Given the description of an element on the screen output the (x, y) to click on. 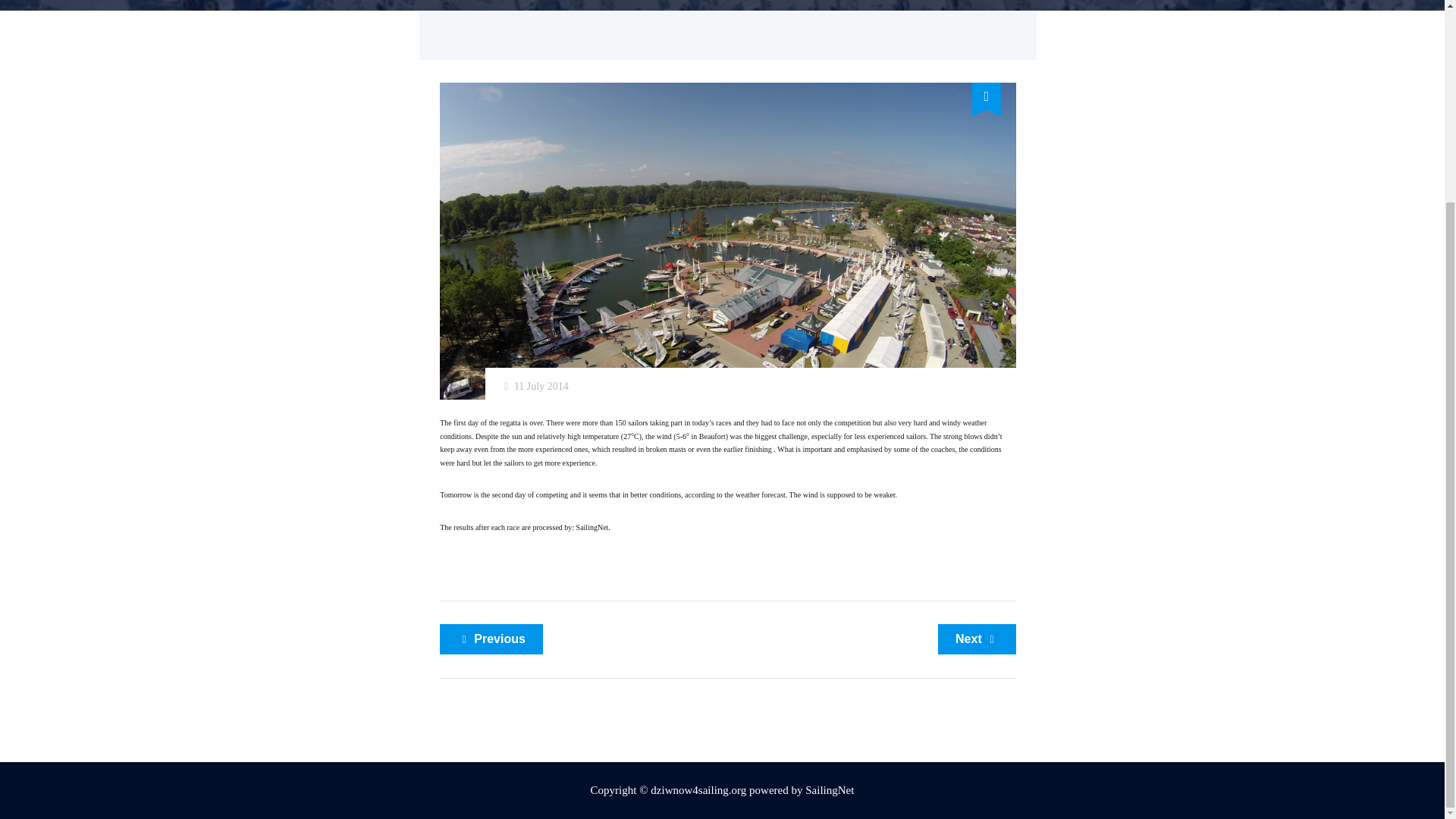
dziwnow4sailing.org (699, 789)
11 July 2014 (541, 386)
Results (524, 527)
The results after each race are processed by: SailingNet. (524, 527)
Previous (491, 639)
Next (976, 639)
SailingNet (829, 789)
